Given the description of an element on the screen output the (x, y) to click on. 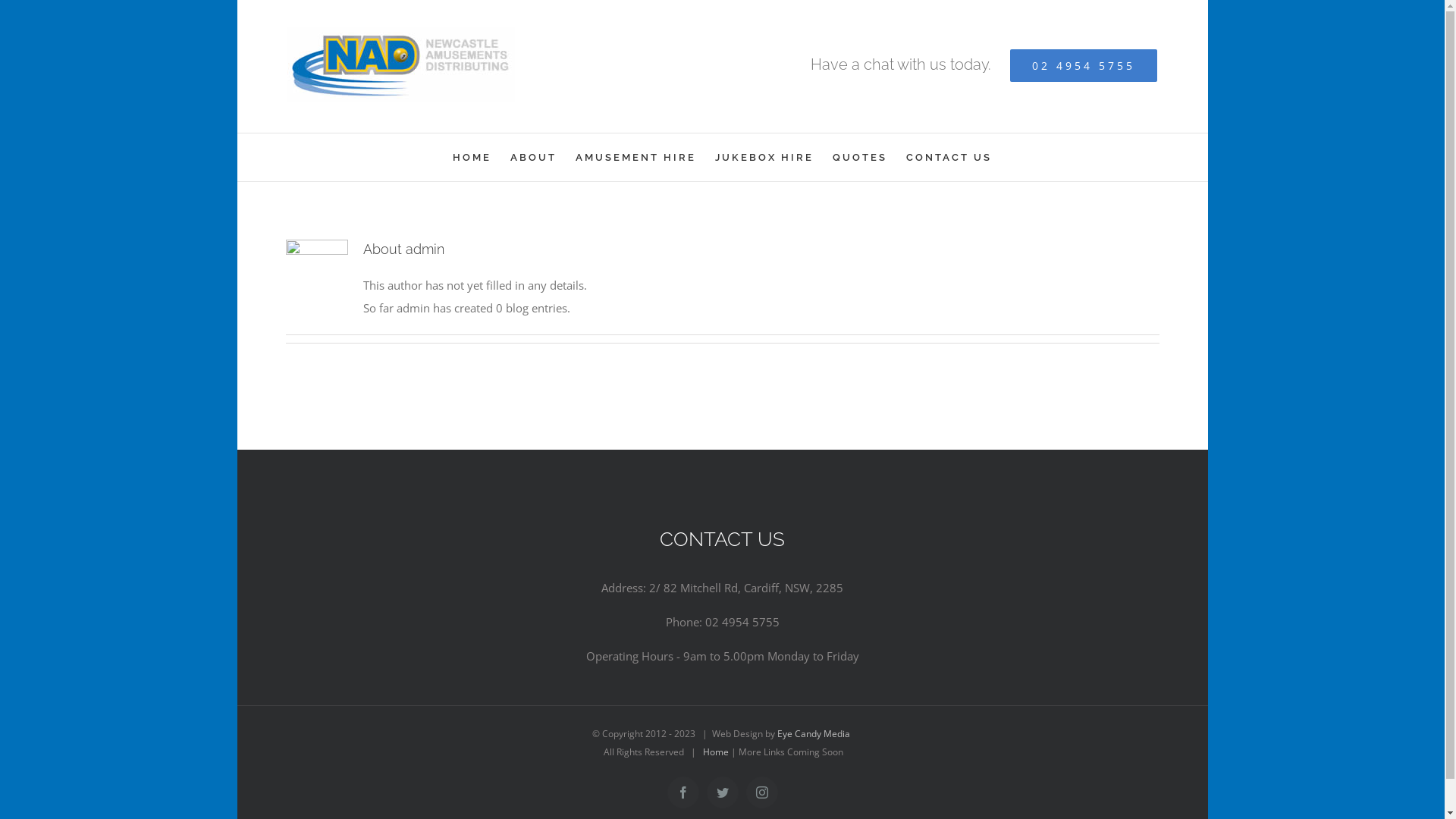
Eye Candy Media Element type: text (813, 733)
02 4954 5755 Element type: text (1083, 65)
ABOUT Element type: text (533, 157)
QUOTES Element type: text (859, 157)
JUKEBOX HIRE Element type: text (764, 157)
CONTACT US Element type: text (948, 157)
Facebook Element type: text (683, 792)
AMUSEMENT HIRE Element type: text (635, 157)
HOME Element type: text (471, 157)
Home Element type: text (715, 751)
Twitter Element type: text (722, 792)
Instagram Element type: text (762, 792)
